Given the description of an element on the screen output the (x, y) to click on. 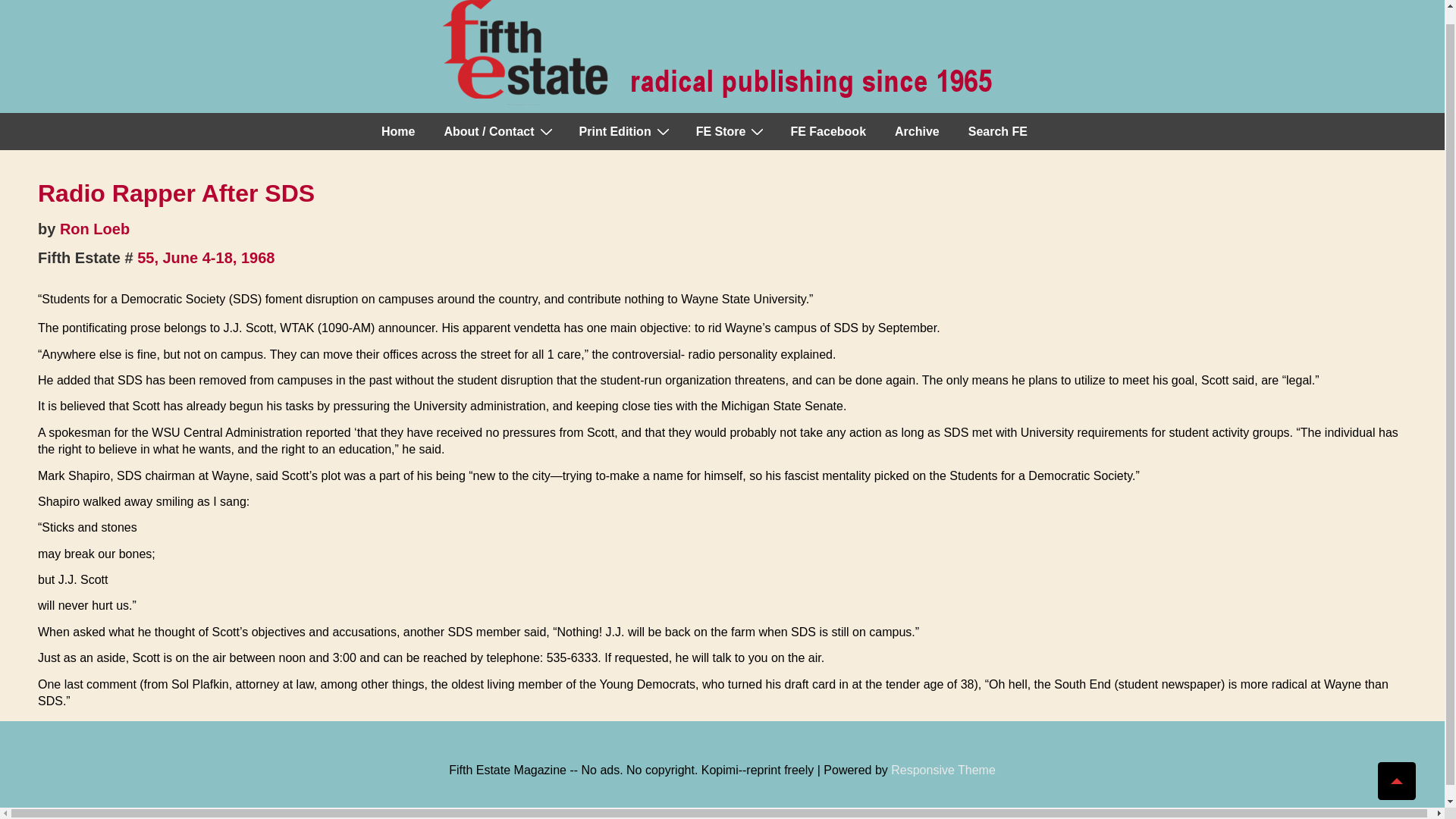
Search FE (998, 131)
FE Facebook (827, 131)
Print Edition (623, 131)
Home (398, 131)
Archive (916, 131)
Responsive Theme (943, 769)
Top (1396, 766)
FE Store (729, 131)
55, June 4-18, 1968 (205, 257)
Ron Loeb (94, 228)
